Given the description of an element on the screen output the (x, y) to click on. 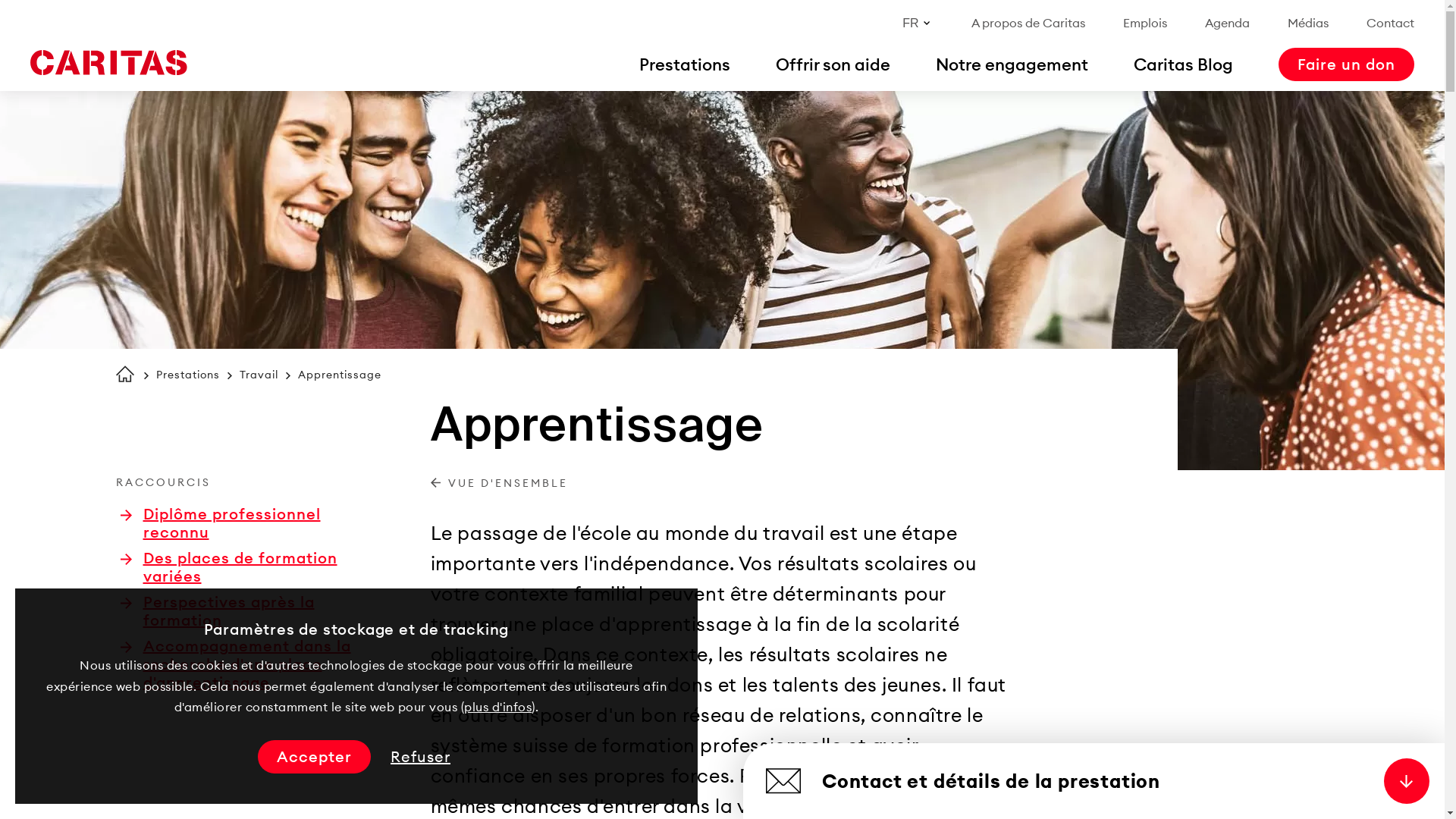
Accepter Element type: text (313, 756)
Page d'accueil Element type: text (108, 62)
Caritas Blog Element type: text (1183, 64)
Notre engagement Element type: text (1011, 64)
Prestations Element type: text (187, 375)
Accompagnement dans la recherche d'une place d'apprentissage Element type: text (236, 664)
A propos de Caritas Element type: text (1028, 22)
plus d'infos Element type: text (497, 706)
Emplois Element type: text (1145, 22)
Agenda Element type: text (1226, 22)
Open sub menu Element type: text (18, 18)
Refuser Element type: text (420, 756)
Offrir son aide Element type: text (832, 64)
Faire un don Element type: text (1346, 64)
Travail Element type: text (258, 375)
Prestations Element type: text (684, 64)
VUE D'ENSEMBLE Element type: text (498, 482)
Page d'accueil Element type: text (124, 373)
Contact Element type: text (1390, 22)
